Given the description of an element on the screen output the (x, y) to click on. 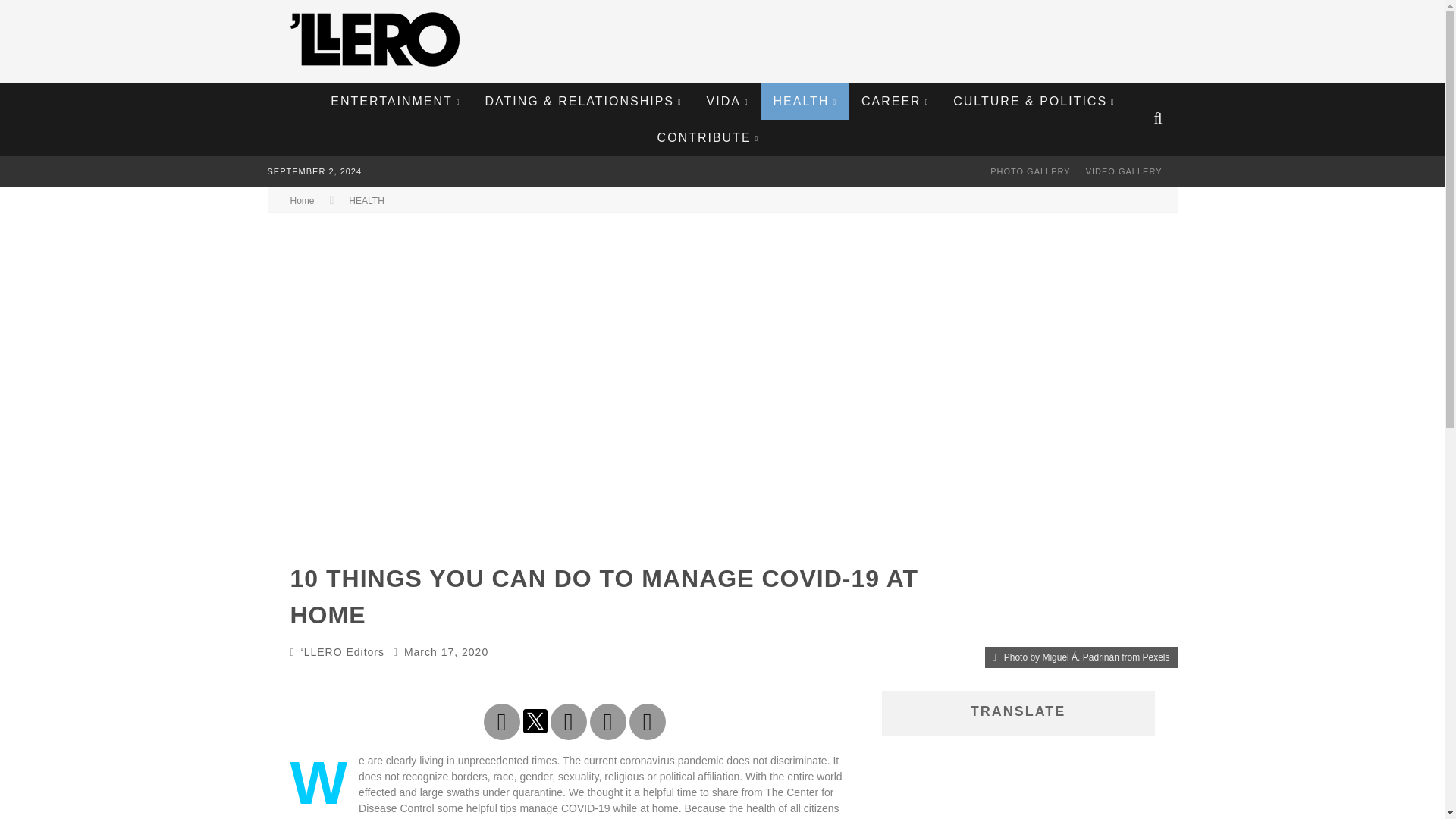
Photo Gallery (1030, 171)
HEALTH (804, 101)
CONTRIBUTE (708, 137)
CAREER (895, 101)
Video Gallery (1124, 171)
